Given the description of an element on the screen output the (x, y) to click on. 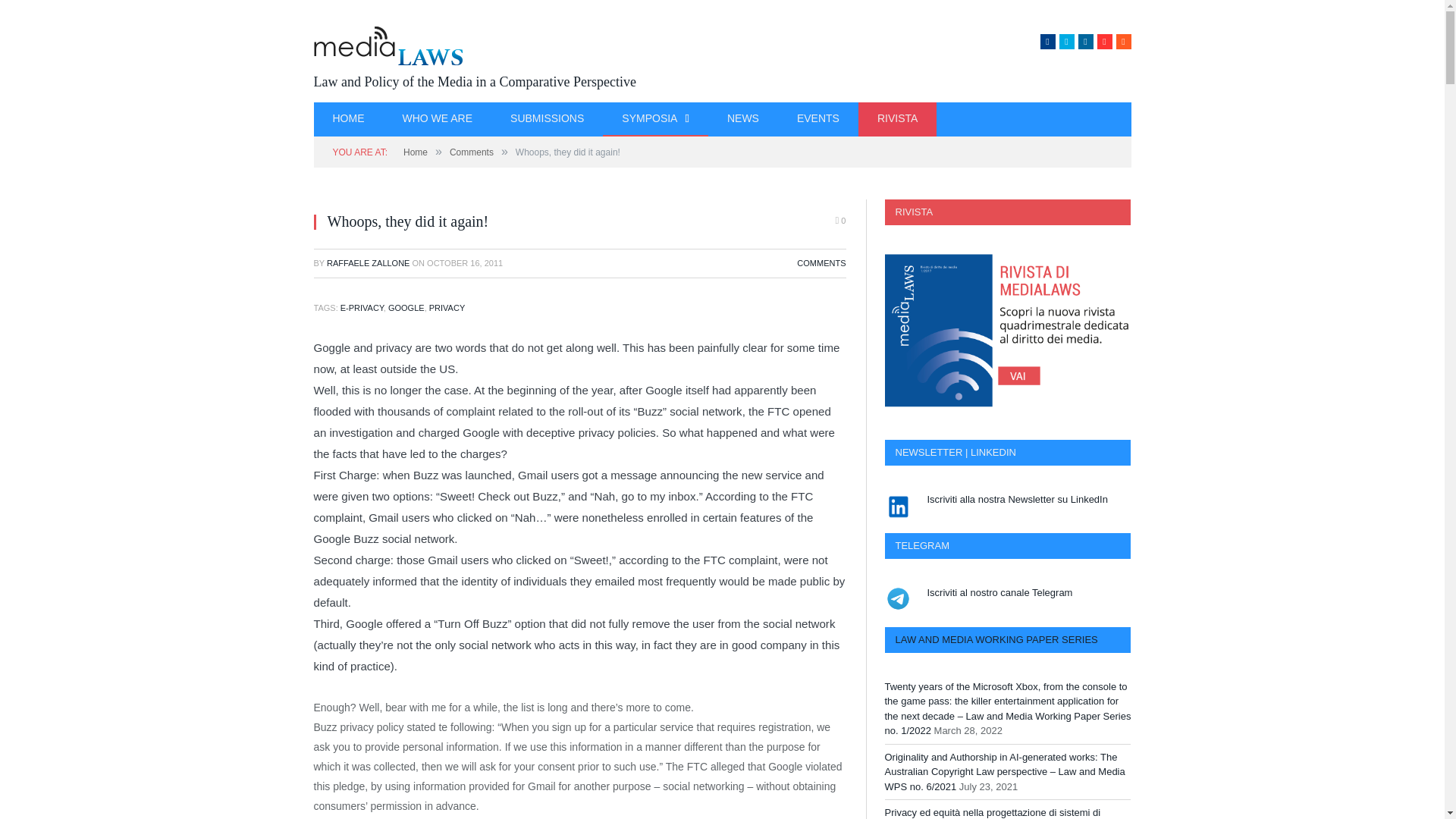
SYMPOSIA (654, 119)
LinkedIn (1085, 41)
WHO WE ARE (438, 119)
MediaLaws (475, 81)
PRIVACY (446, 307)
NEWS (742, 119)
Facebook (1048, 41)
RSS (1123, 41)
Comments (471, 152)
YouTube (1104, 41)
